Given the description of an element on the screen output the (x, y) to click on. 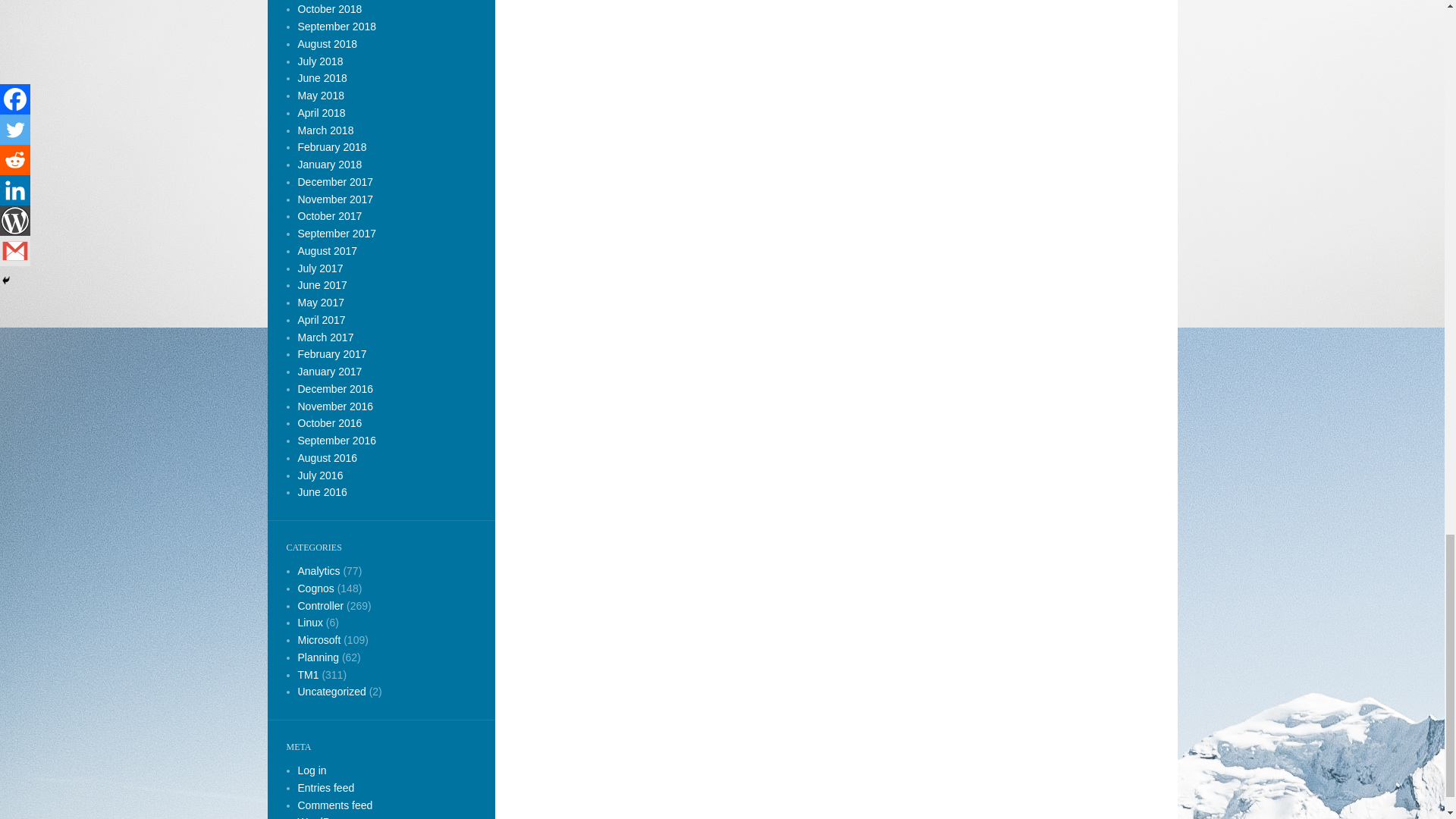
IBM Cognos Business Intelligence  (318, 571)
Information about Cognos Planning (318, 657)
Information about Cognos BI (315, 588)
Information about Cognos TM1 (307, 674)
Information about Cognos Controller (320, 604)
